Given the description of an element on the screen output the (x, y) to click on. 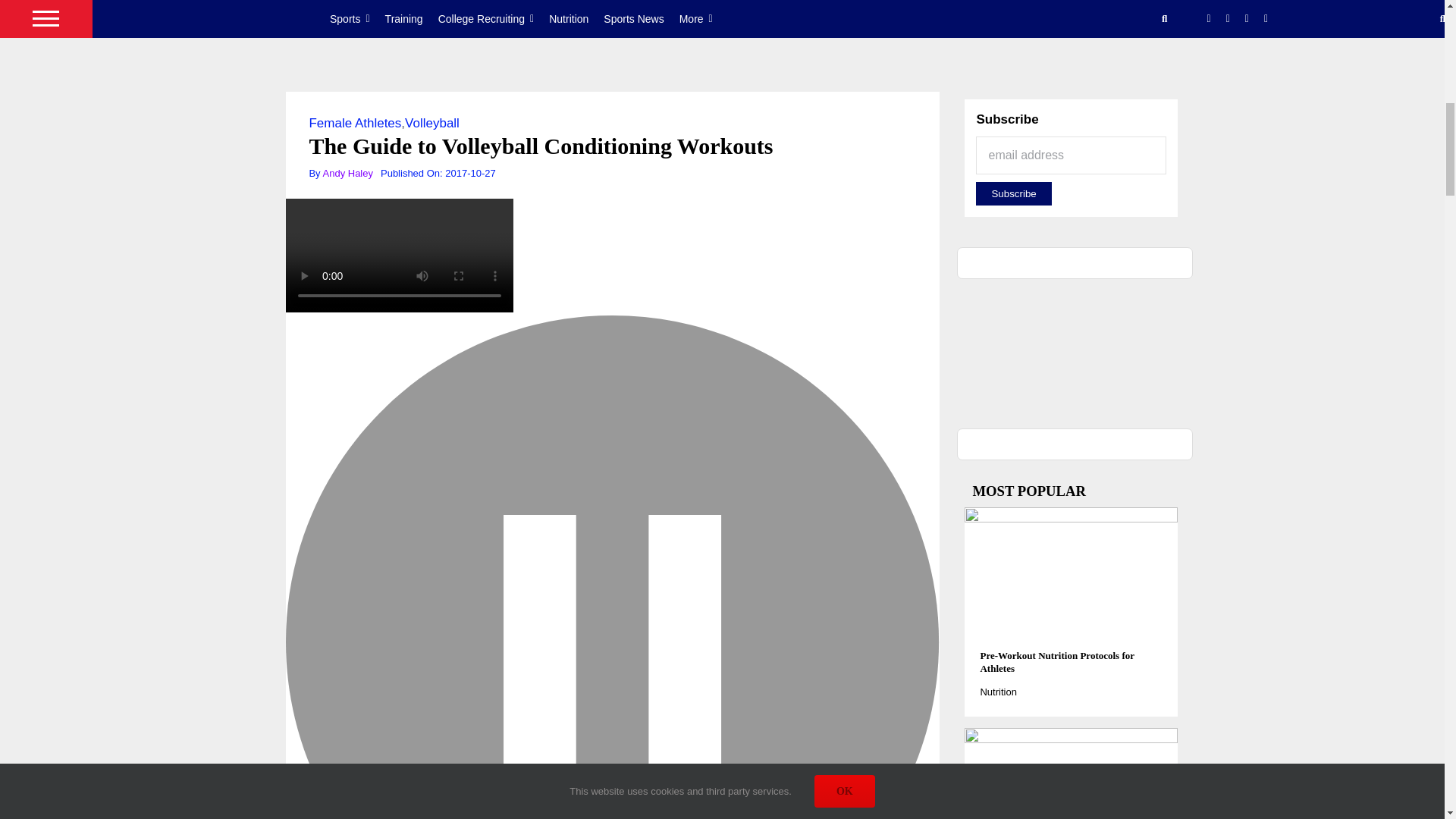
Female Athletes (354, 123)
Posts by Andy Haley (347, 173)
Subscribe (1013, 193)
Volleyball (432, 123)
